Given the description of an element on the screen output the (x, y) to click on. 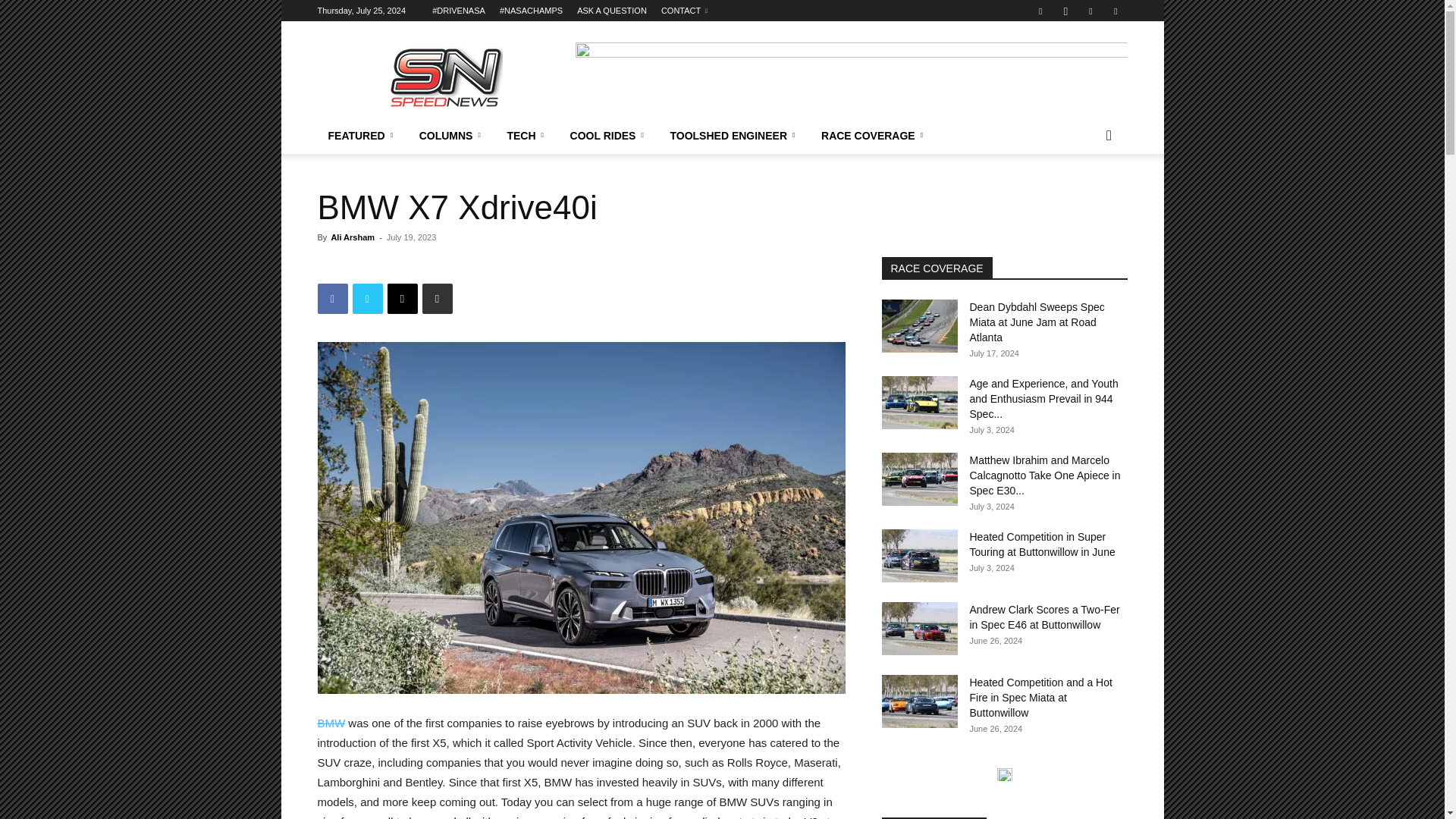
The Official Magazine of the National Auto Sport Association (445, 76)
Instagram (1065, 10)
Twitter (1090, 10)
Youtube (1114, 10)
ASK A QUESTION (611, 10)
Facebook (1040, 10)
CONTACT (684, 10)
